Given the description of an element on the screen output the (x, y) to click on. 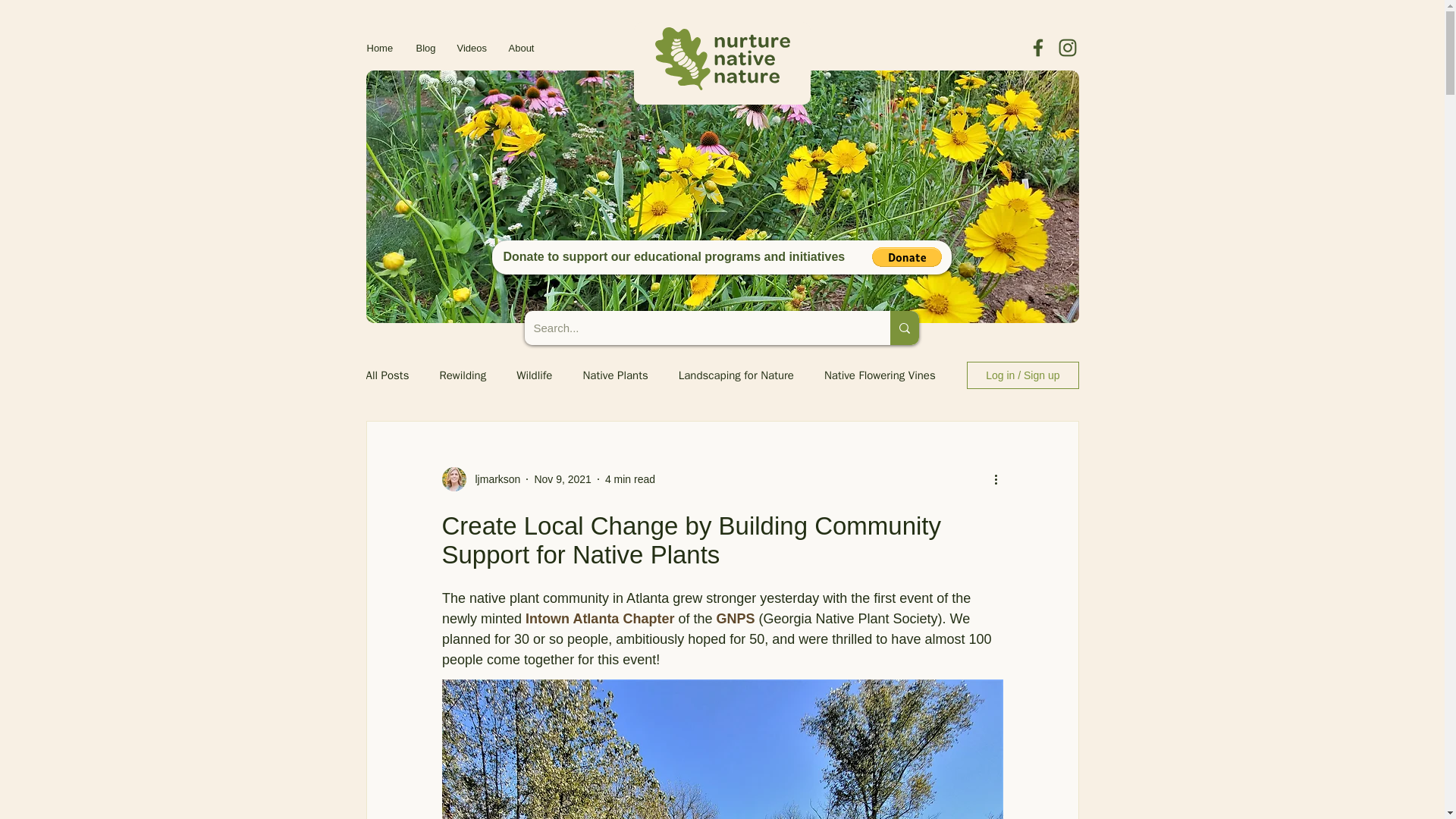
Videos (471, 48)
Rewilding (462, 375)
About (522, 48)
Blog (424, 48)
GNPS (735, 618)
Native Plants (614, 375)
ljmarkson (492, 479)
Landscaping for Nature (735, 375)
Home (381, 48)
Wildlife (533, 375)
Intown Atlanta Chapter (599, 618)
4 min read (630, 479)
Nov 9, 2021 (562, 479)
Native Flowering Vines (880, 375)
All Posts (387, 375)
